Given the description of an element on the screen output the (x, y) to click on. 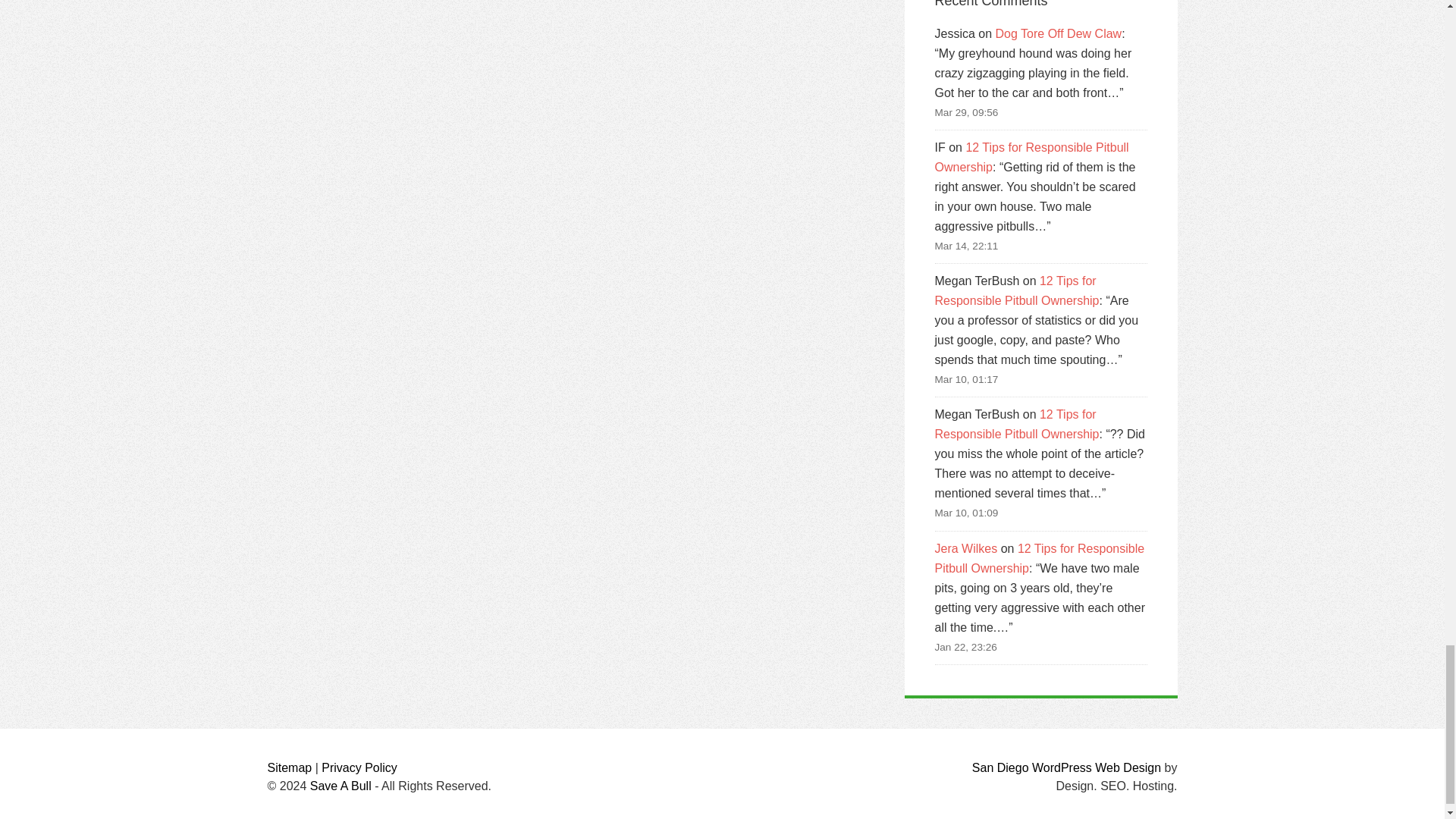
Privacy Policy (359, 767)
Pitbull Awareness (340, 785)
Sitemap (288, 767)
San Diego WordPress Web Design (1066, 767)
